Given the description of an element on the screen output the (x, y) to click on. 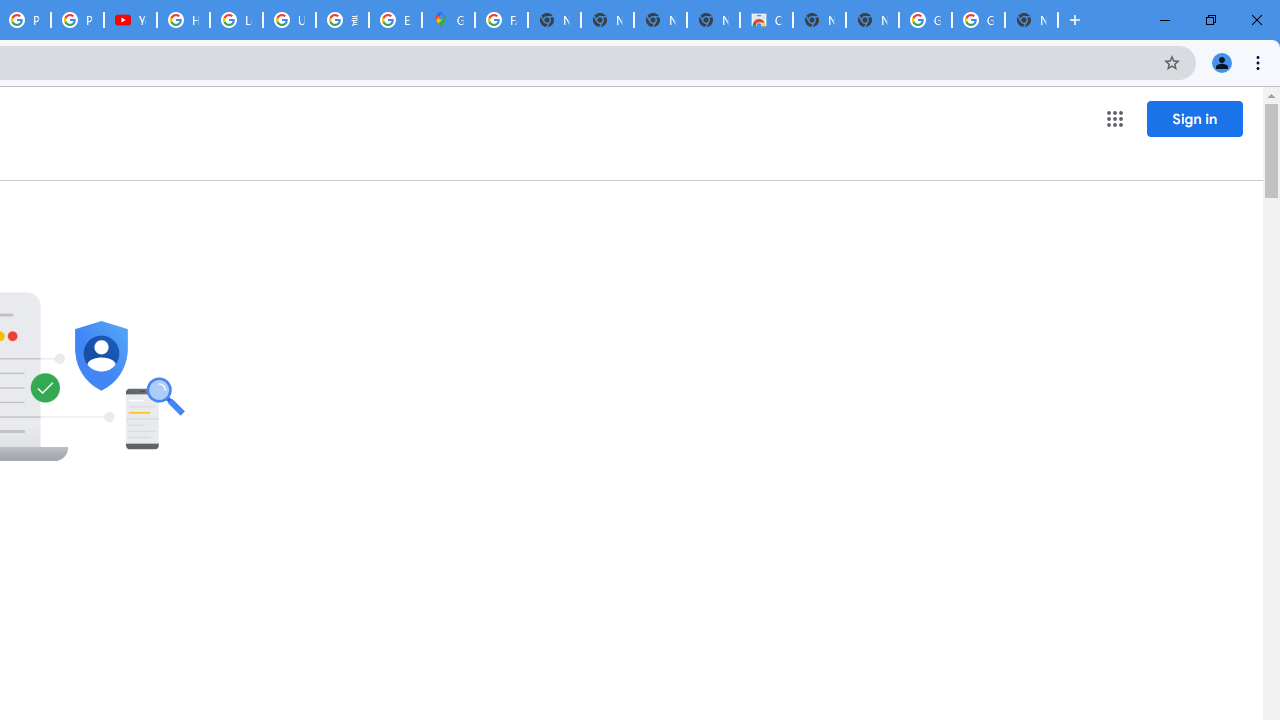
Privacy Checkup (77, 20)
Chrome Web Store (766, 20)
Google Images (978, 20)
YouTube (130, 20)
Explore new street-level details - Google Maps Help (395, 20)
New Tab (1031, 20)
